Given the description of an element on the screen output the (x, y) to click on. 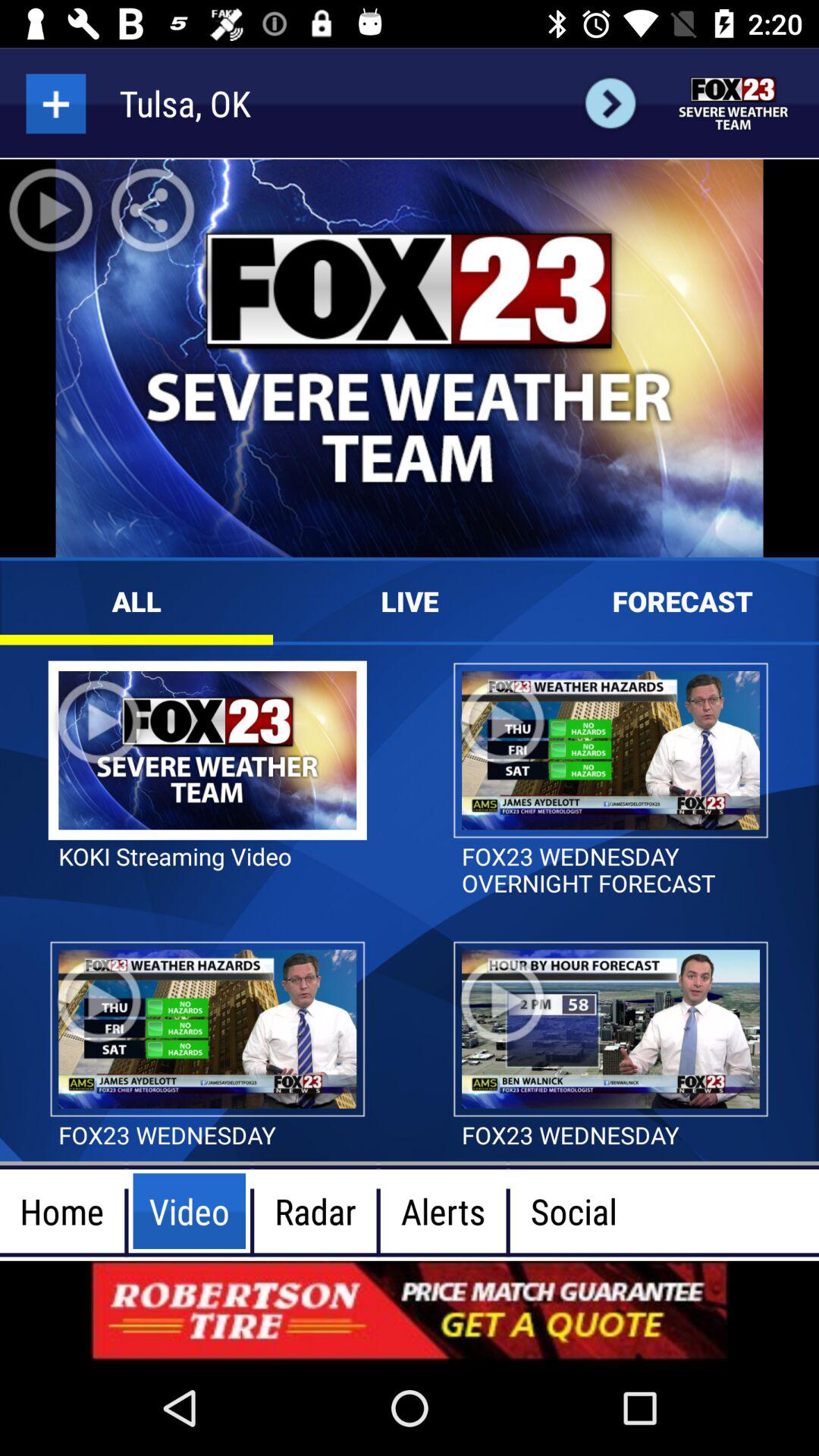
go to next (610, 103)
